Given the description of an element on the screen output the (x, y) to click on. 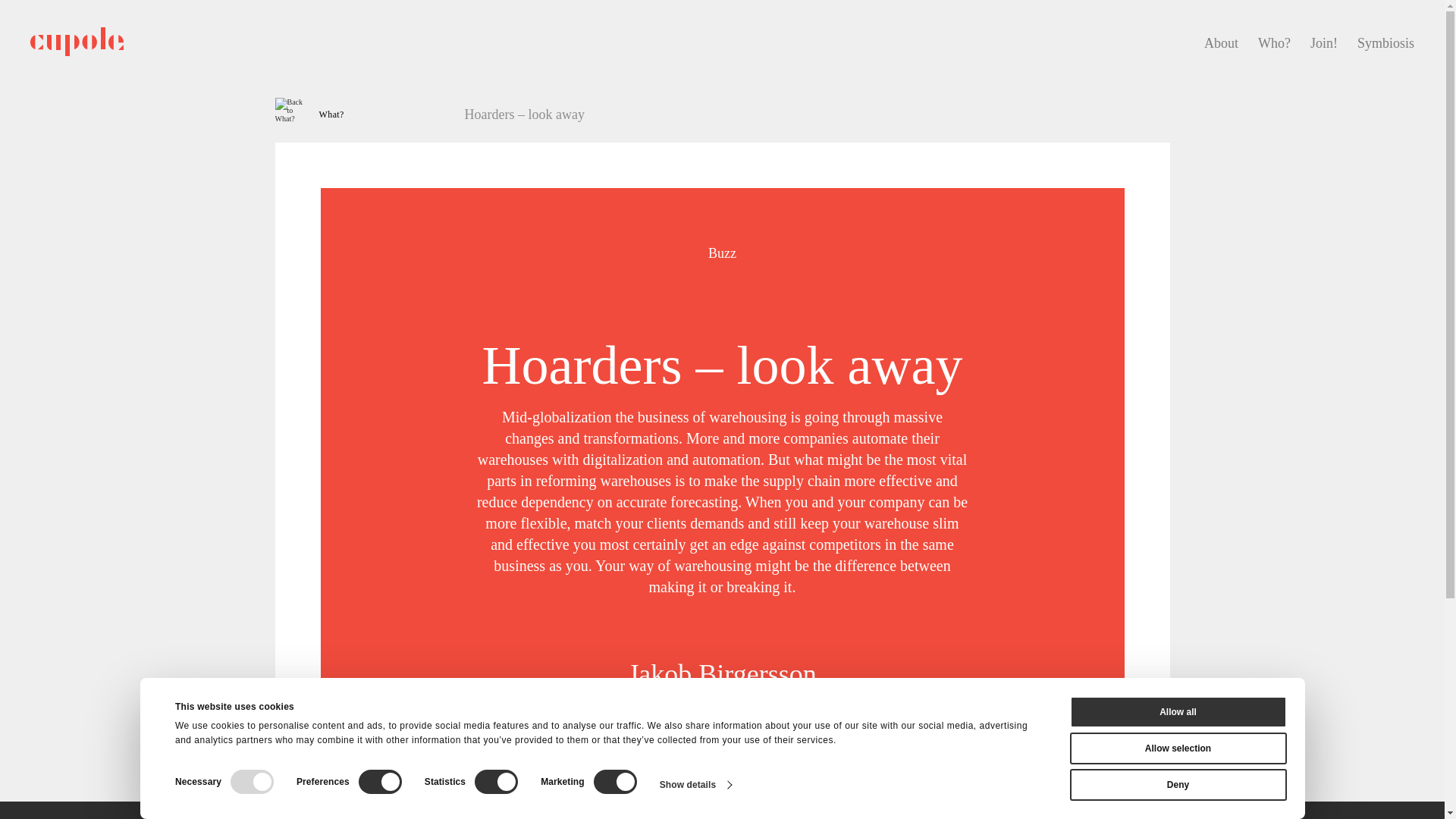
Who? (1273, 43)
Allow selection (1176, 748)
Show details (694, 784)
About (1221, 43)
Symbiosis (1384, 43)
Deny (1176, 784)
Allow all (1176, 712)
Join! (1324, 43)
